Given the description of an element on the screen output the (x, y) to click on. 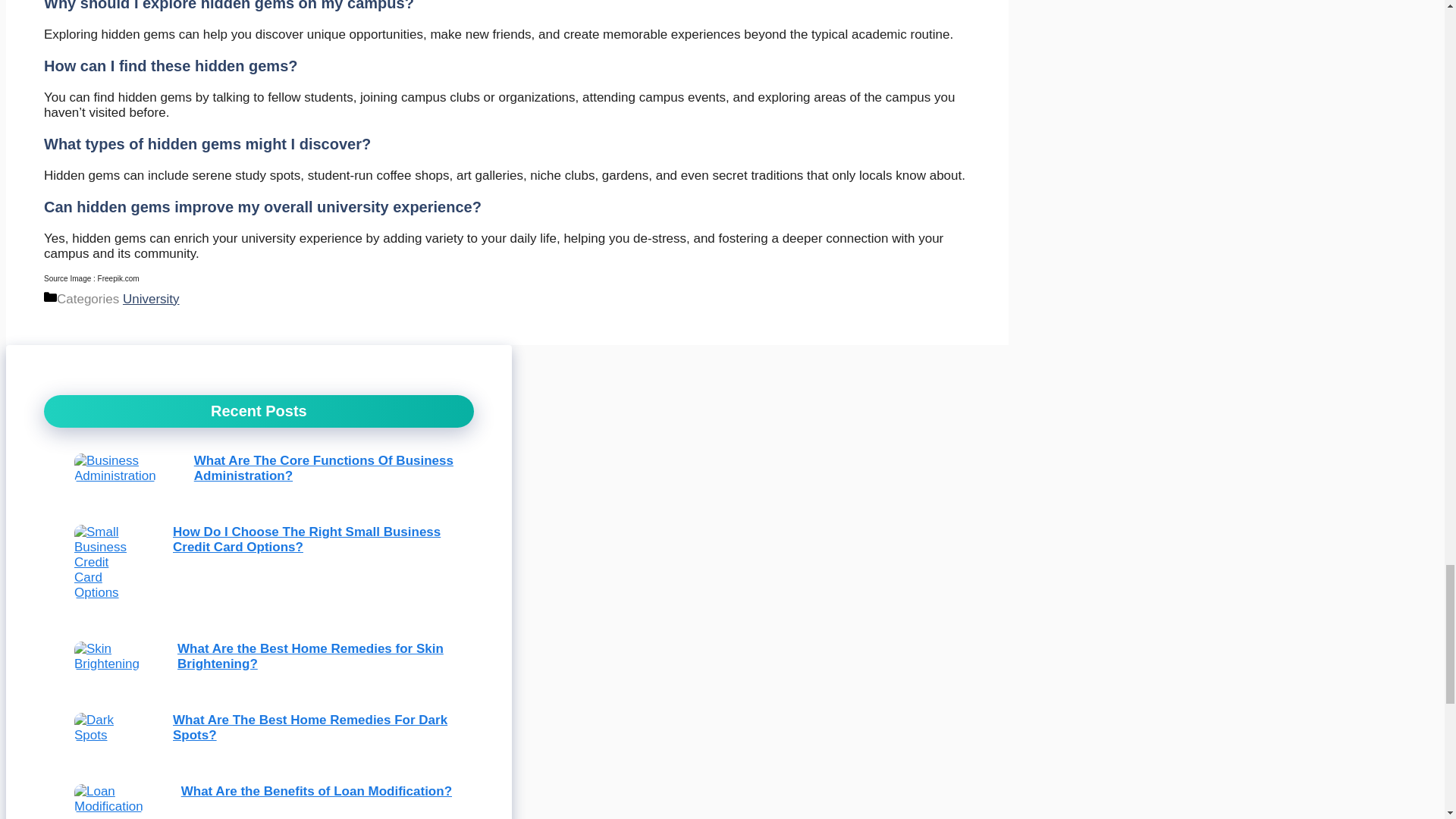
What Are the Best Home Remedies for Skin Brightening? (310, 655)
University (150, 298)
What Are The Core Functions Of Business Administration? (322, 468)
